Given the description of an element on the screen output the (x, y) to click on. 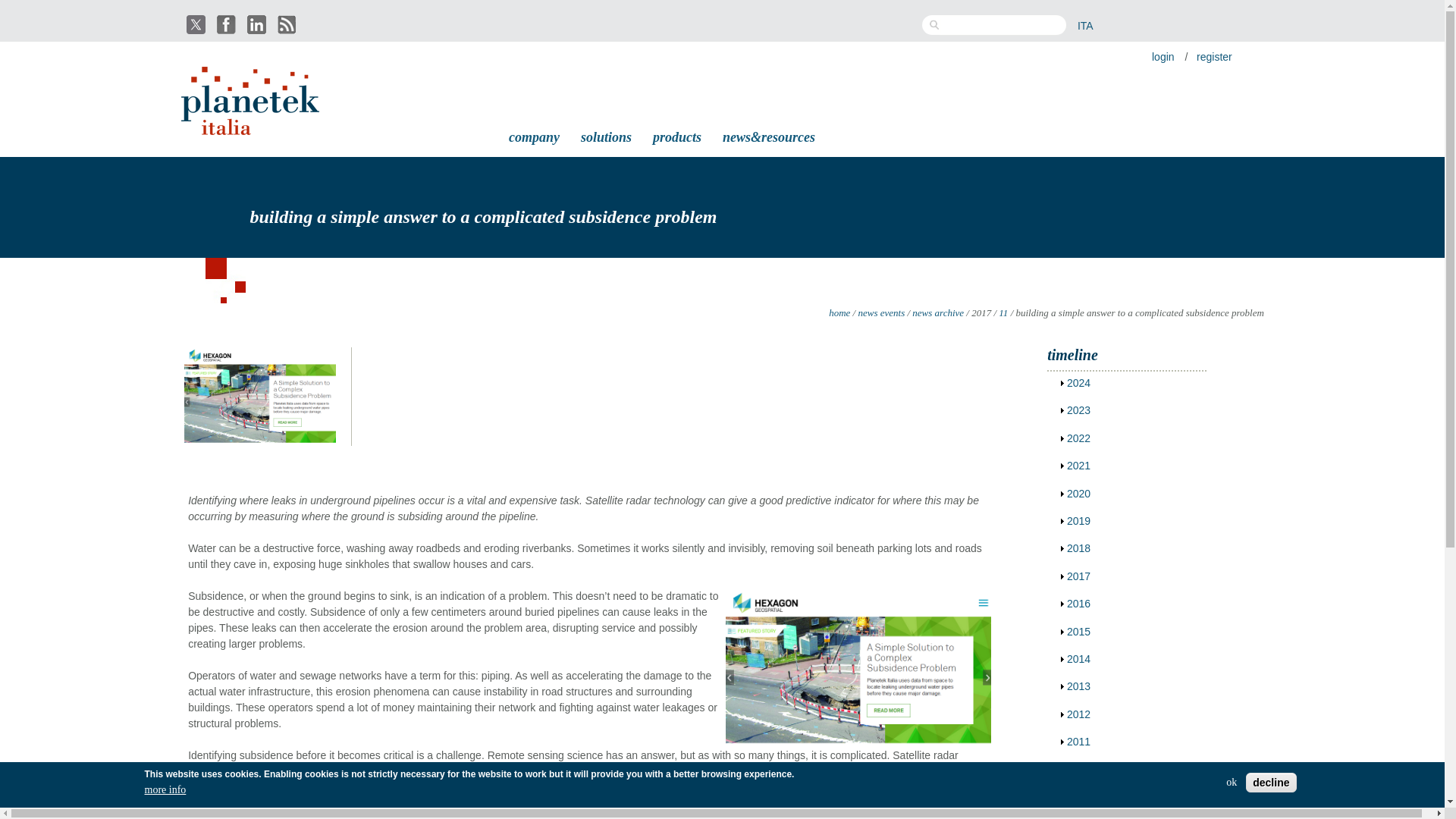
Planetek Italia RSS feed (288, 30)
Find Planetek Italia on Twitter (197, 30)
company (534, 135)
Enter the terms you wish to search for. (1002, 25)
register (1213, 56)
Find Planetek Italia on Facebook (228, 24)
Planetek Italia RSS feed (288, 24)
solutions (606, 135)
Home page (251, 126)
